Given the description of an element on the screen output the (x, y) to click on. 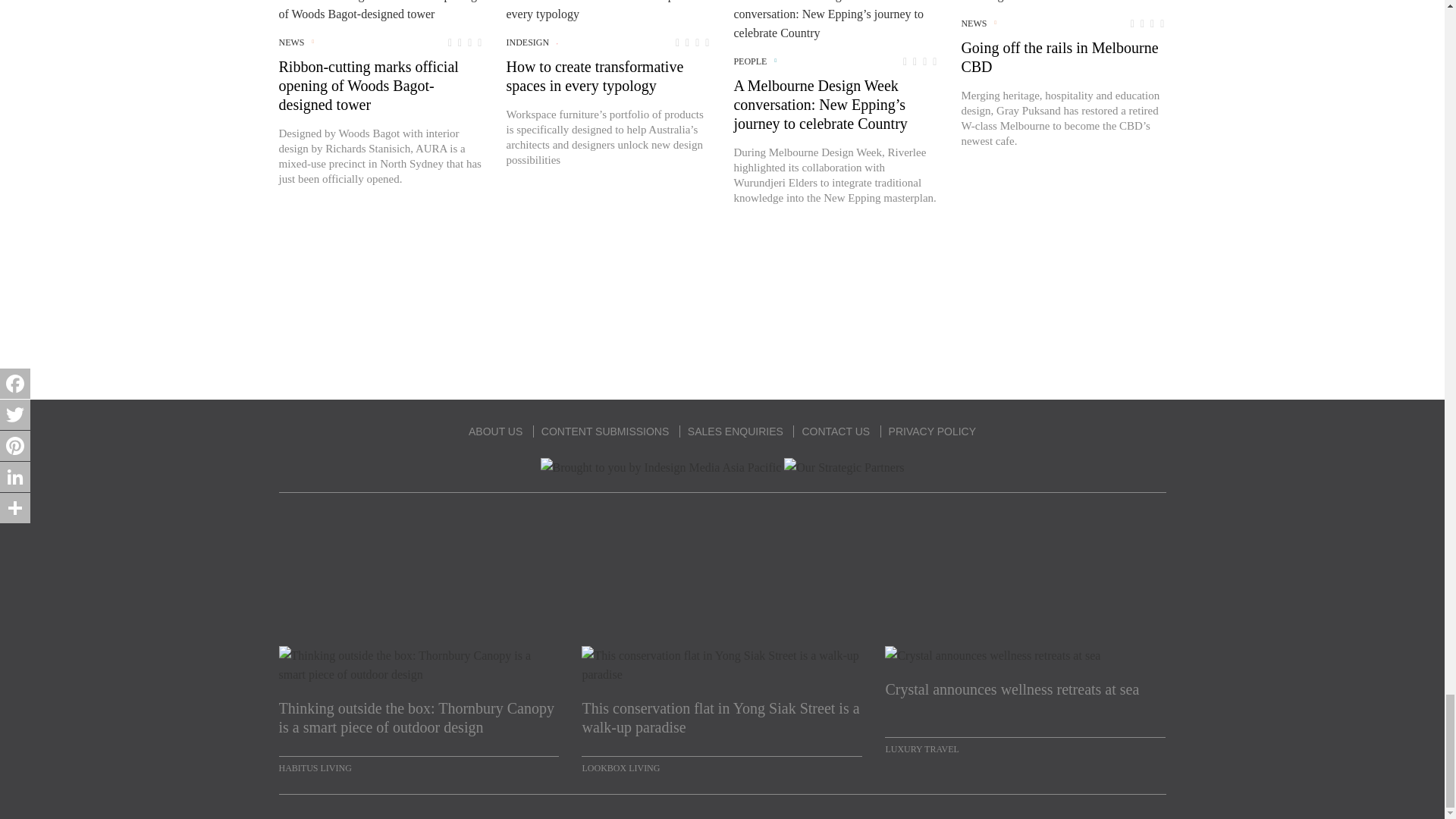
How to create transformative spaces in every typology (607, 11)
